Given the description of an element on the screen output the (x, y) to click on. 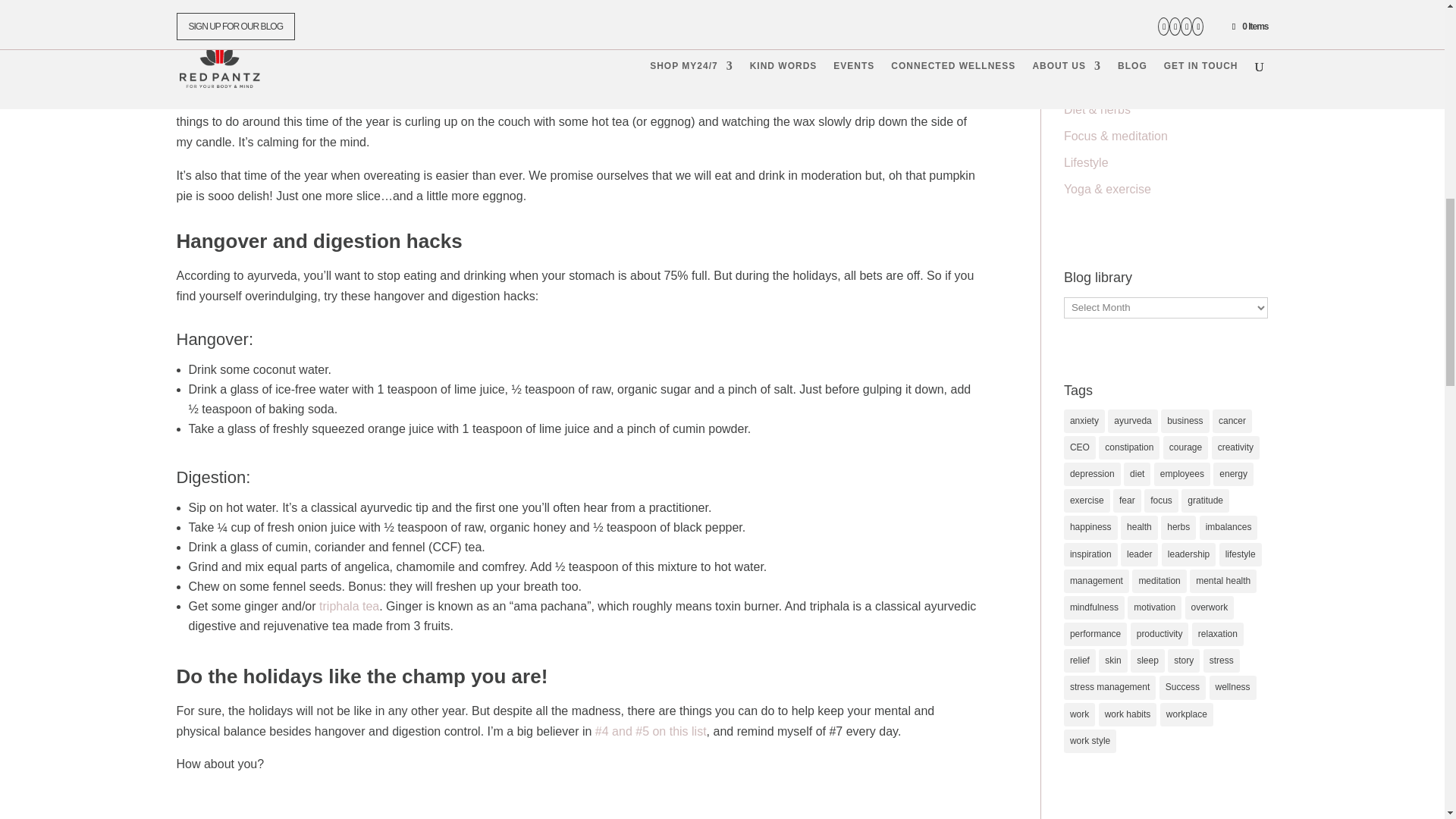
Featured blog post (446, 44)
Posts by Petra N. (214, 44)
triphala tea (348, 605)
Petra N. (214, 44)
